Given the description of an element on the screen output the (x, y) to click on. 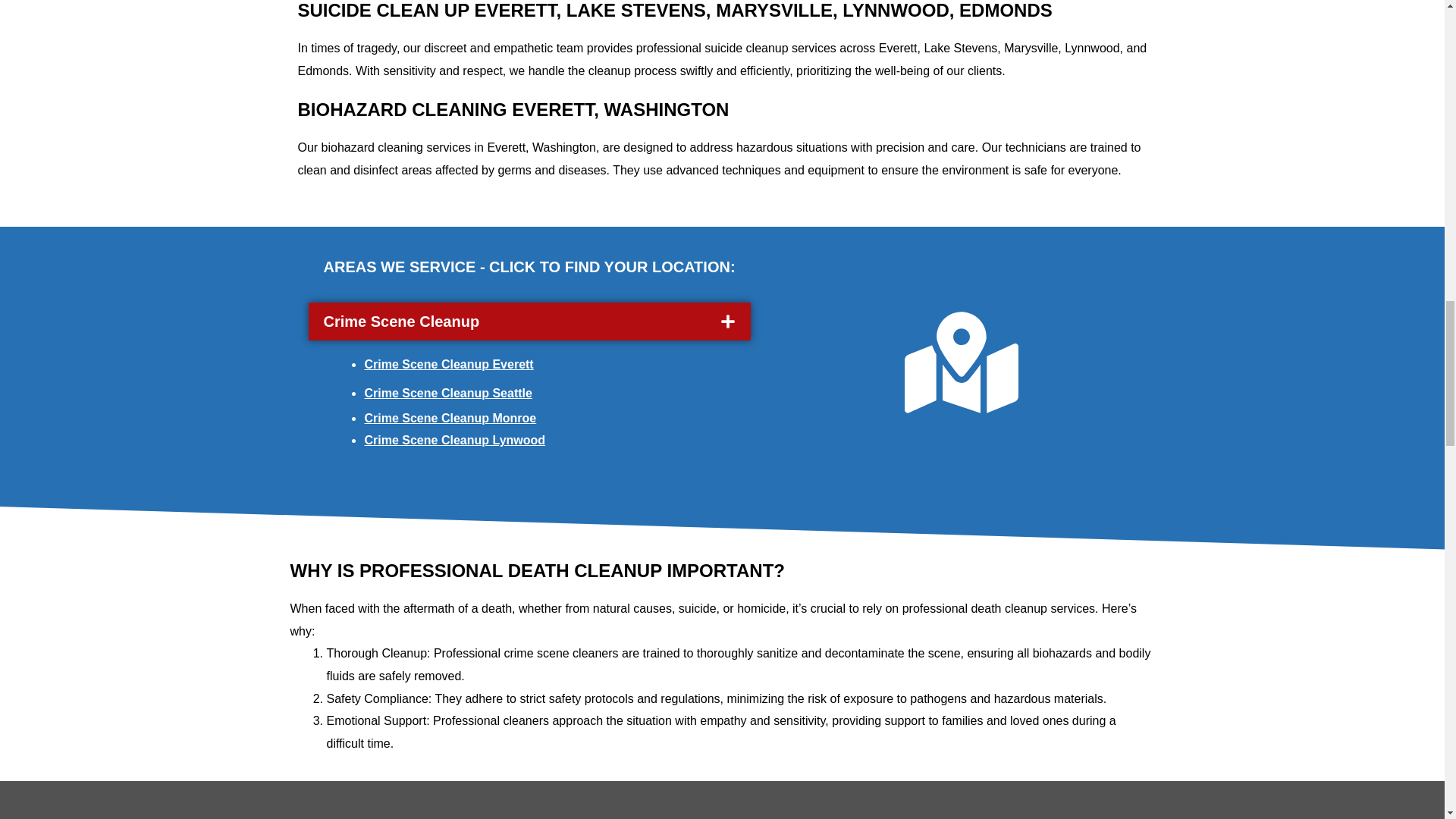
Crime Scene Cleanup Seattle (447, 392)
Crime Scene Cleanup Everett (448, 364)
Crime Scene Cleanup Lynwood (454, 440)
Crime Scene Cleanup Monroe (449, 418)
